Given the description of an element on the screen output the (x, y) to click on. 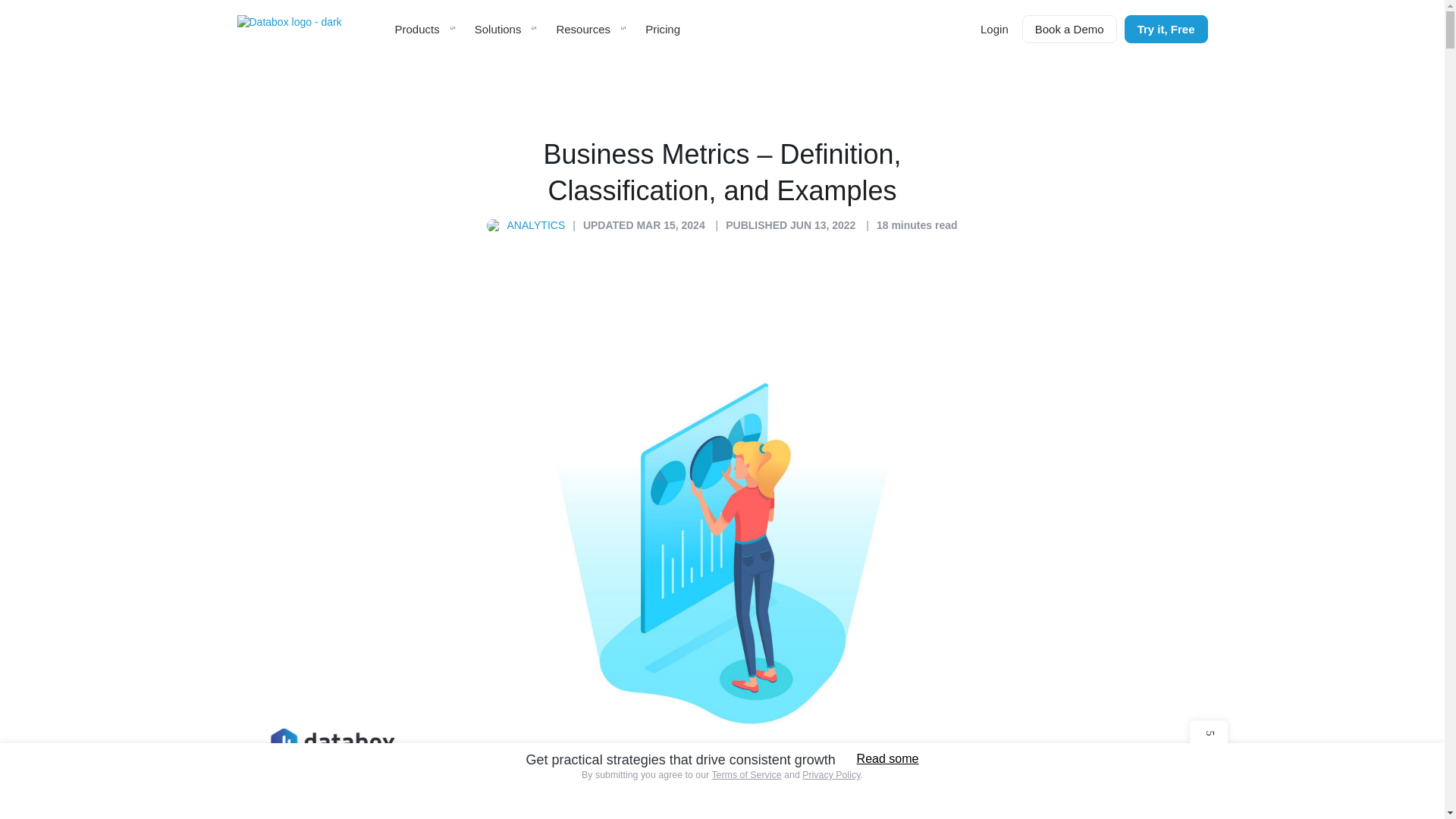
Solutions (507, 29)
Products (425, 29)
Resources (592, 29)
